Given the description of an element on the screen output the (x, y) to click on. 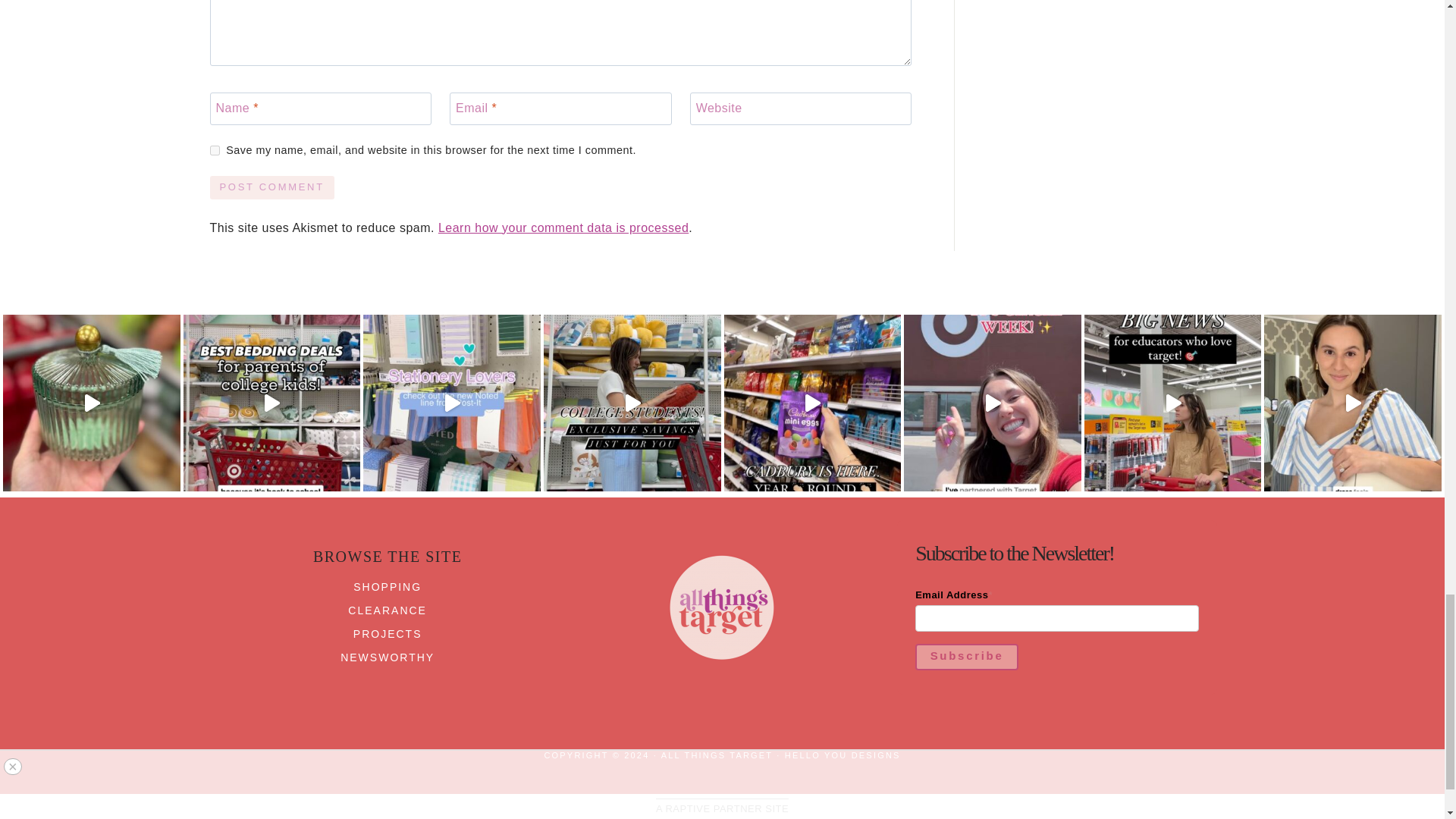
yes (214, 150)
Post Comment (271, 187)
